Given the description of an element on the screen output the (x, y) to click on. 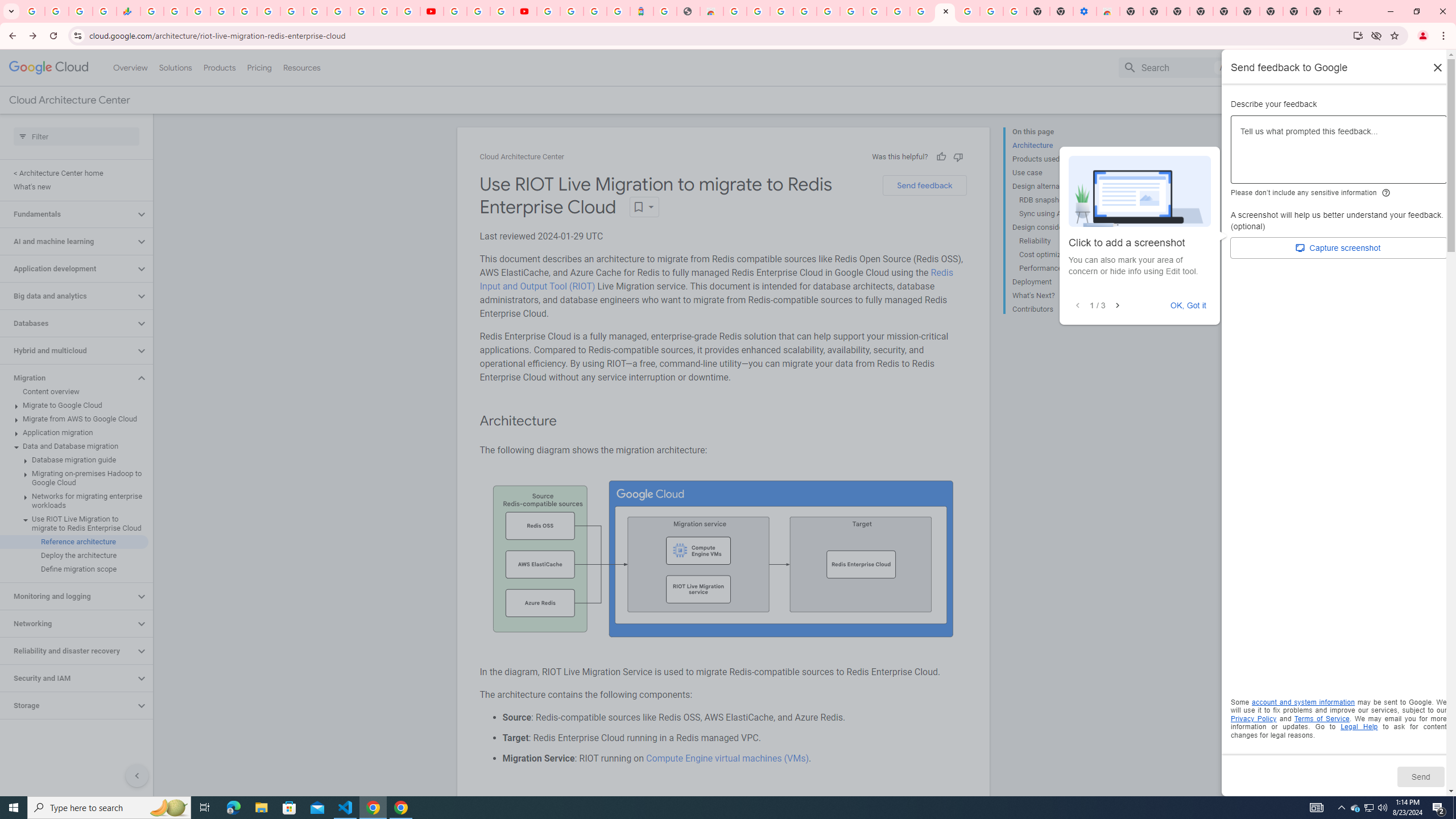
Migrate to Google Cloud (74, 404)
Chrome Web Store - Accessibility extensions (1108, 11)
Security and IAM (67, 678)
Resources (301, 67)
Define migration scope (74, 568)
New Tab (1271, 11)
Application development (67, 269)
Pricing (259, 67)
Turn cookies on or off - Computer - Google Account Help (1015, 11)
Opens in a new tab. Privacy Policy (1253, 718)
